Given the description of an element on the screen output the (x, y) to click on. 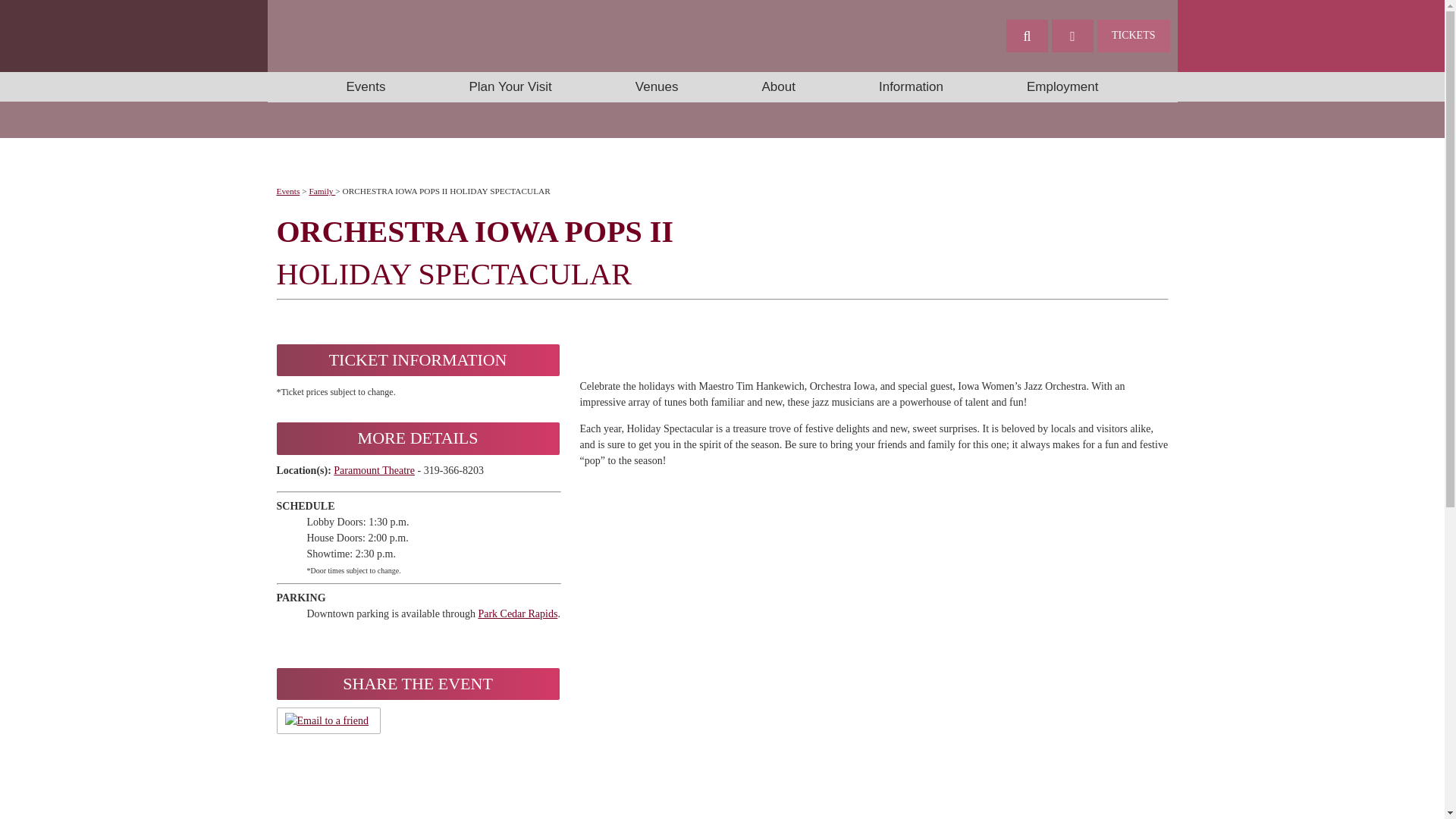
Search (1027, 35)
Events (365, 87)
TICKETS (1133, 35)
